Given the description of an element on the screen output the (x, y) to click on. 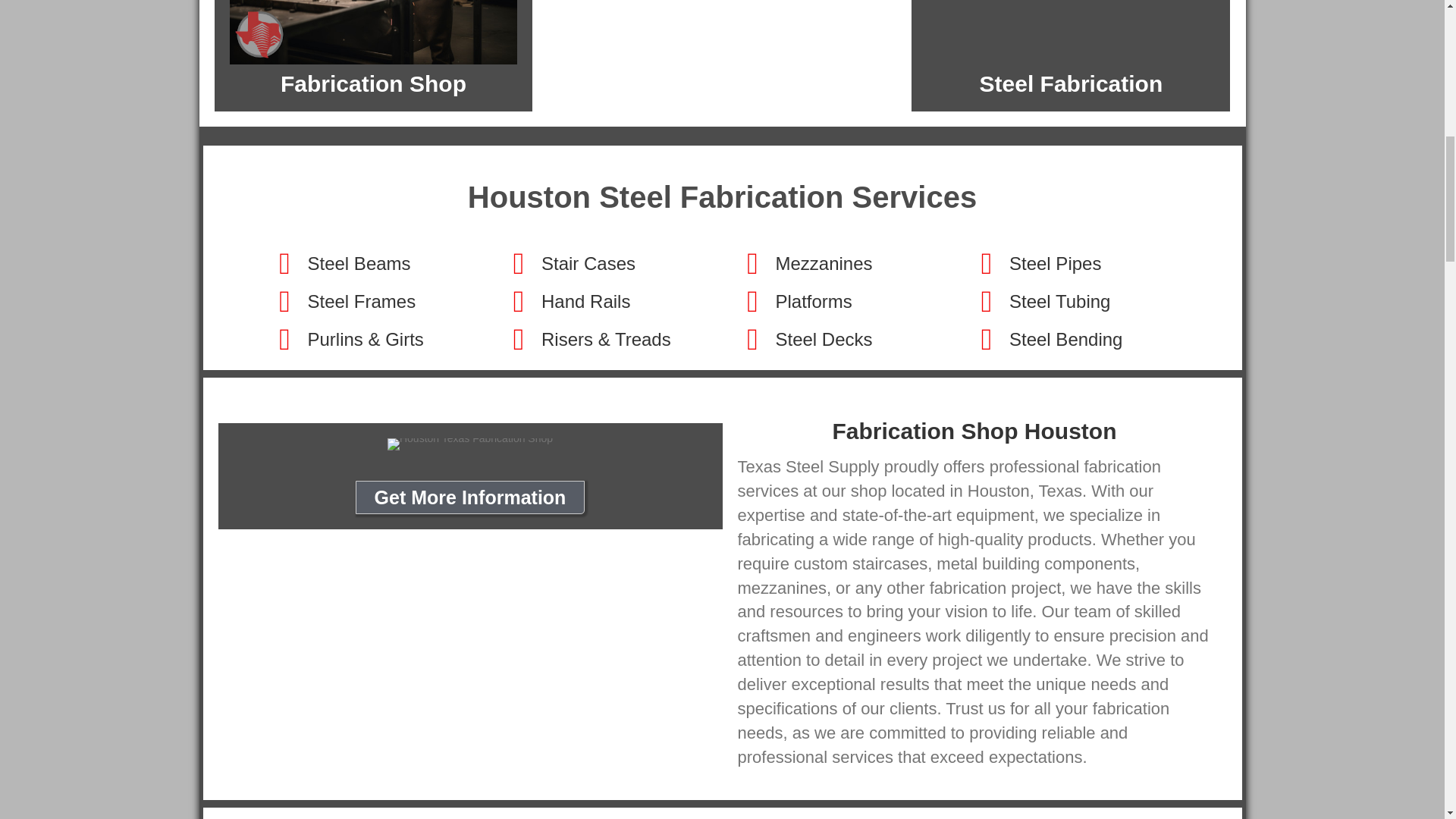
wpforms-submit (759, 785)
Click Here (470, 497)
Houston Texas Fabrication Shop (470, 444)
Metal Fabrication Shops Houston (372, 32)
Get More Information (470, 497)
Local Steel Fabrication Shops (1070, 32)
